Given the description of an element on the screen output the (x, y) to click on. 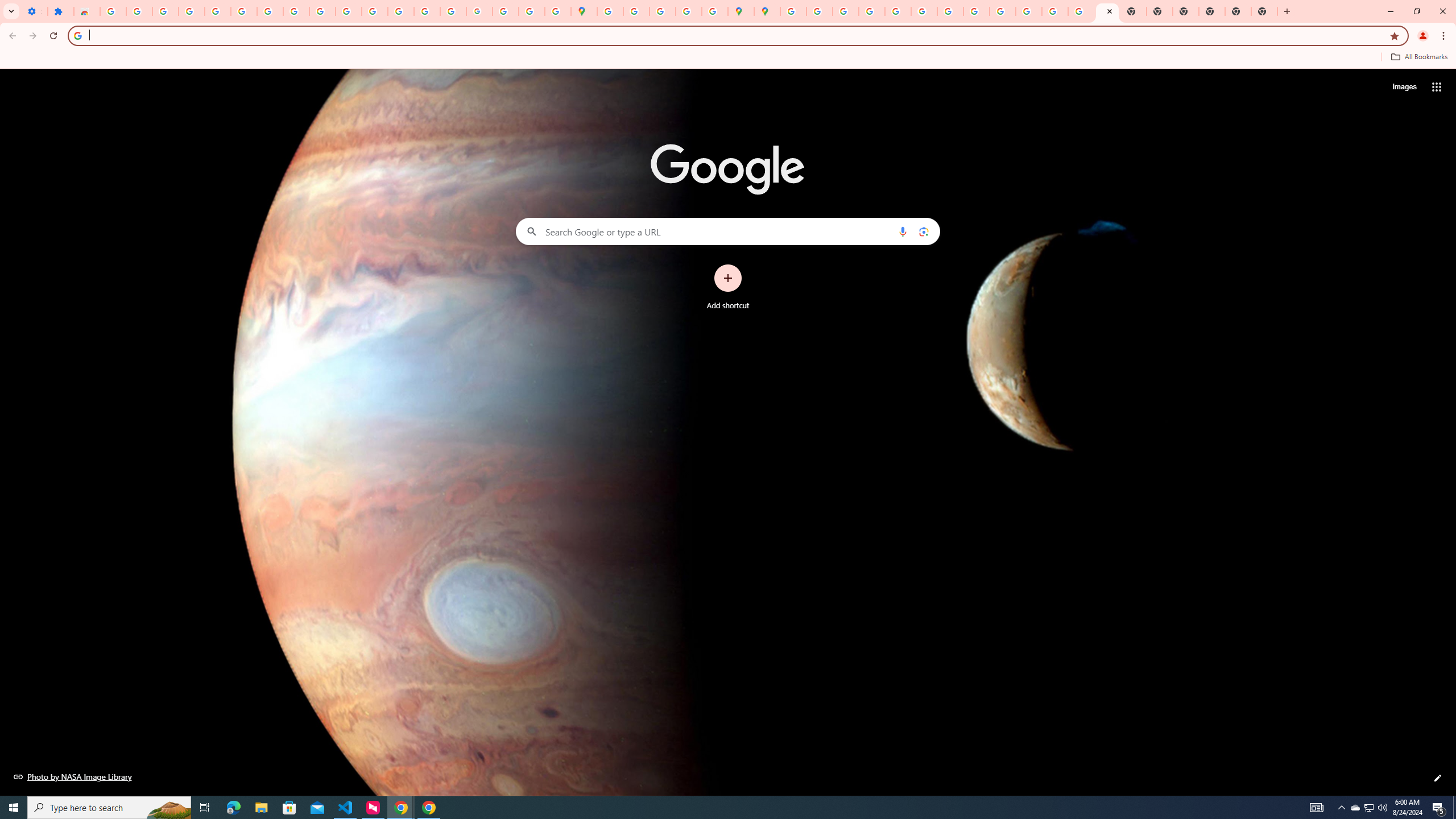
New Tab (1238, 11)
Delete photos & videos - Computer - Google Photos Help (165, 11)
Google Account (296, 11)
